Given the description of an element on the screen output the (x, y) to click on. 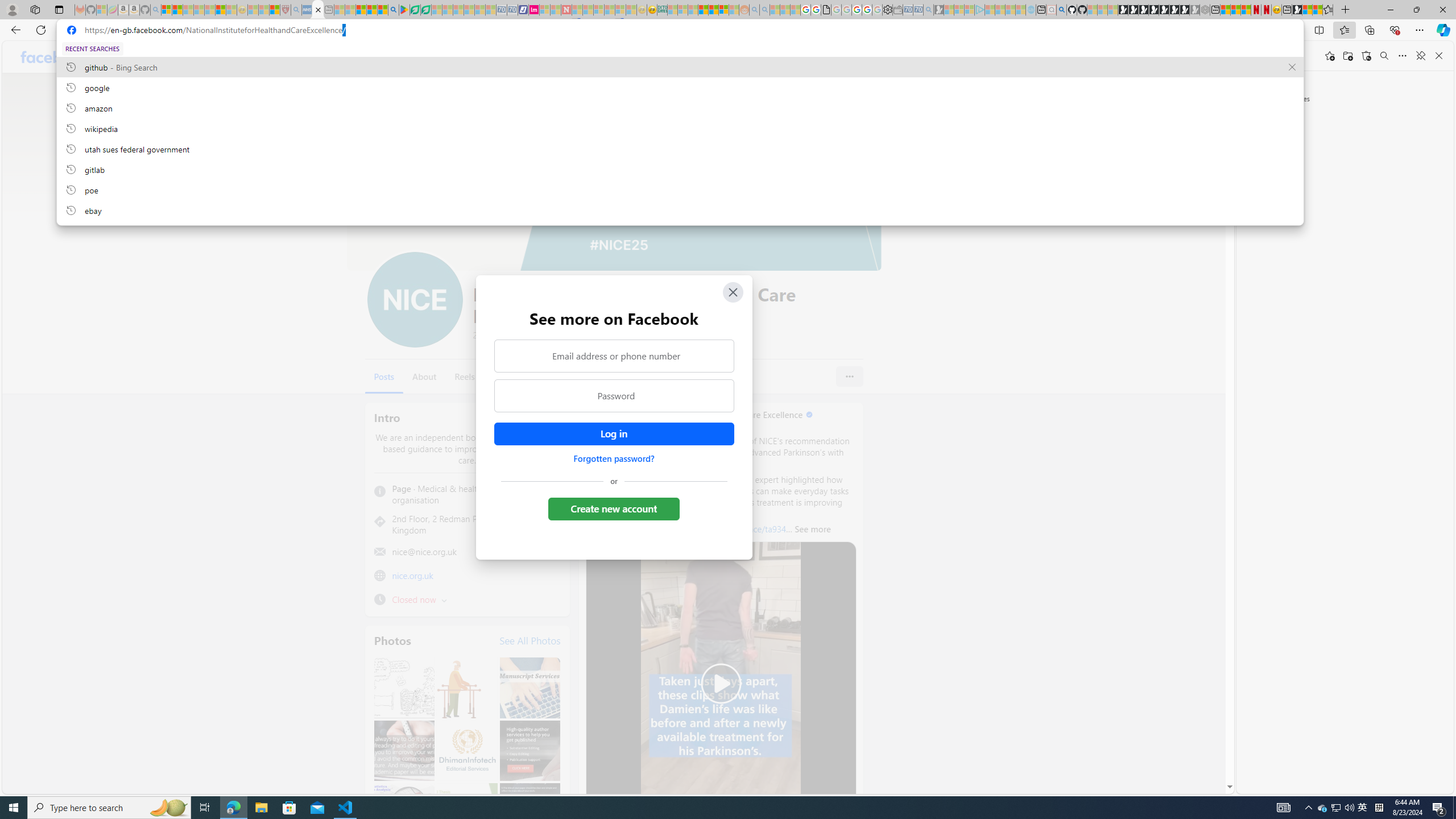
Facebook (55, 56)
Bluey: Let's Play! - Apps on Google Play (404, 9)
Expert Portfolios (703, 9)
